Given the description of an element on the screen output the (x, y) to click on. 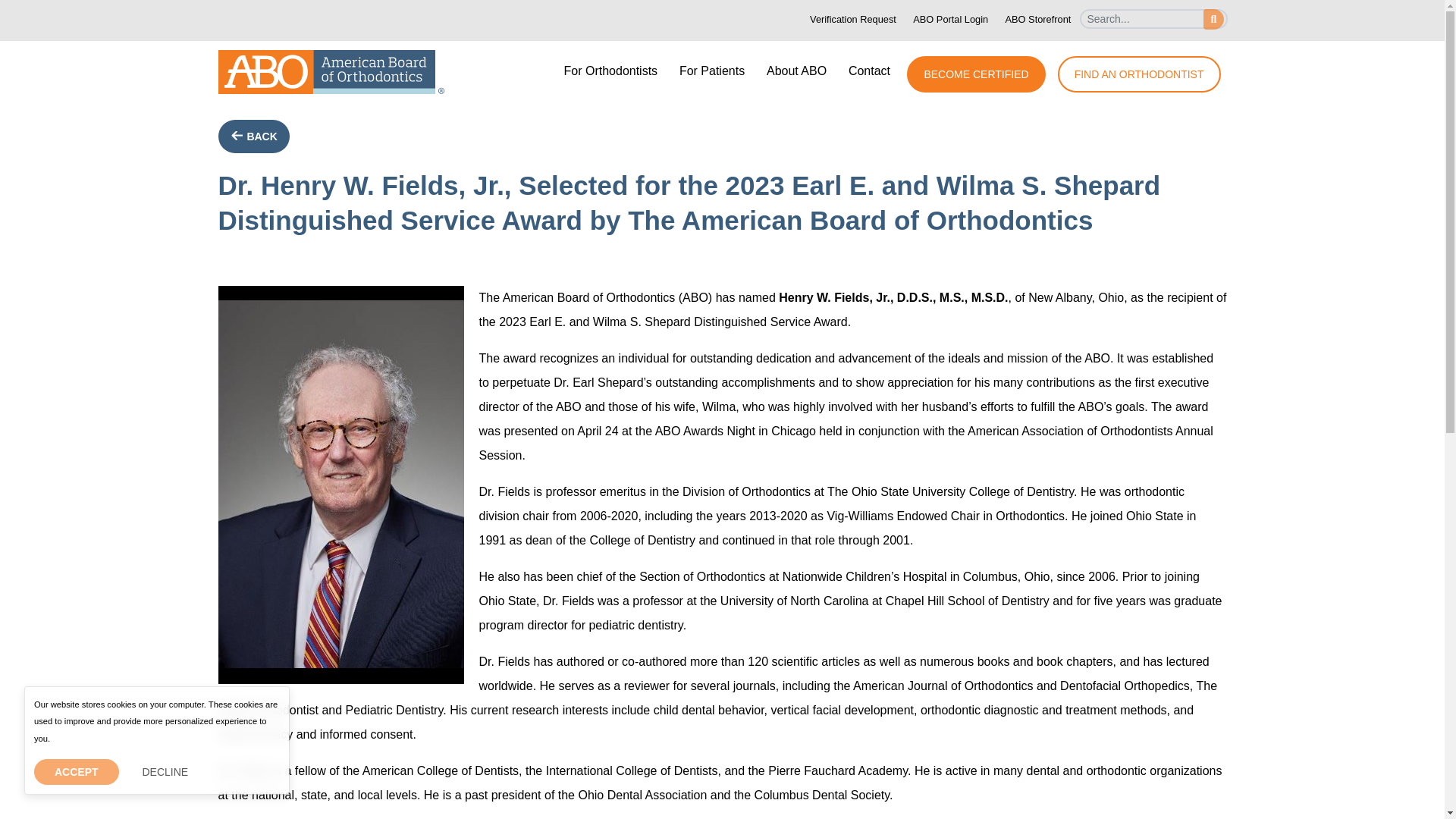
Search (1152, 25)
For Patients (711, 70)
For Orthodontists (610, 70)
BACK (253, 136)
About ABO (796, 70)
SEARCH (1213, 19)
BECOME CERTIFIED (976, 74)
Contact (869, 70)
ABO Storefront (1036, 20)
Home (331, 71)
